Given the description of an element on the screen output the (x, y) to click on. 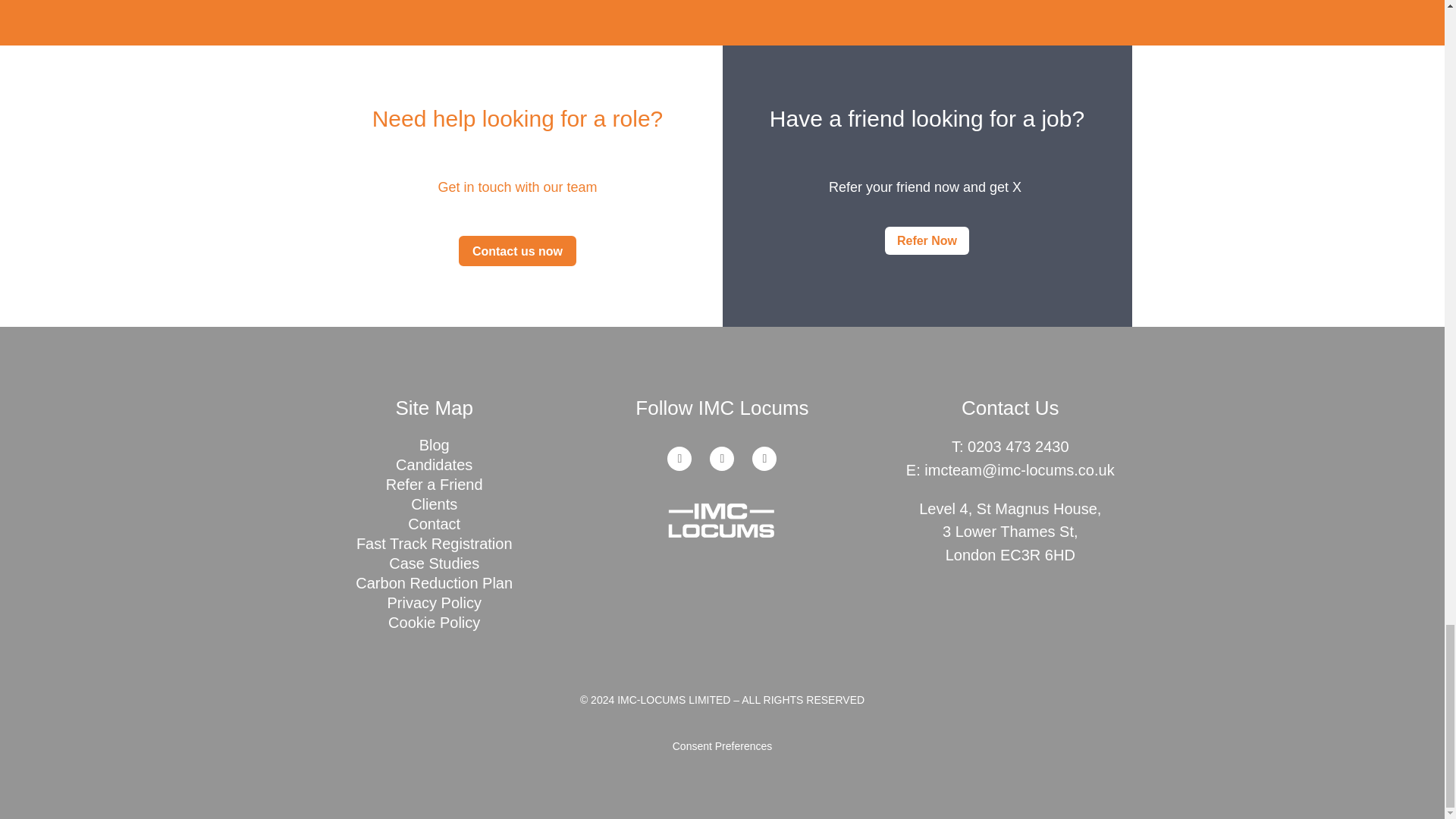
Follow on LinkedIn (678, 458)
Follow on X (721, 458)
imc-locums-grey (721, 519)
Follow on Facebook (764, 458)
